Given the description of an element on the screen output the (x, y) to click on. 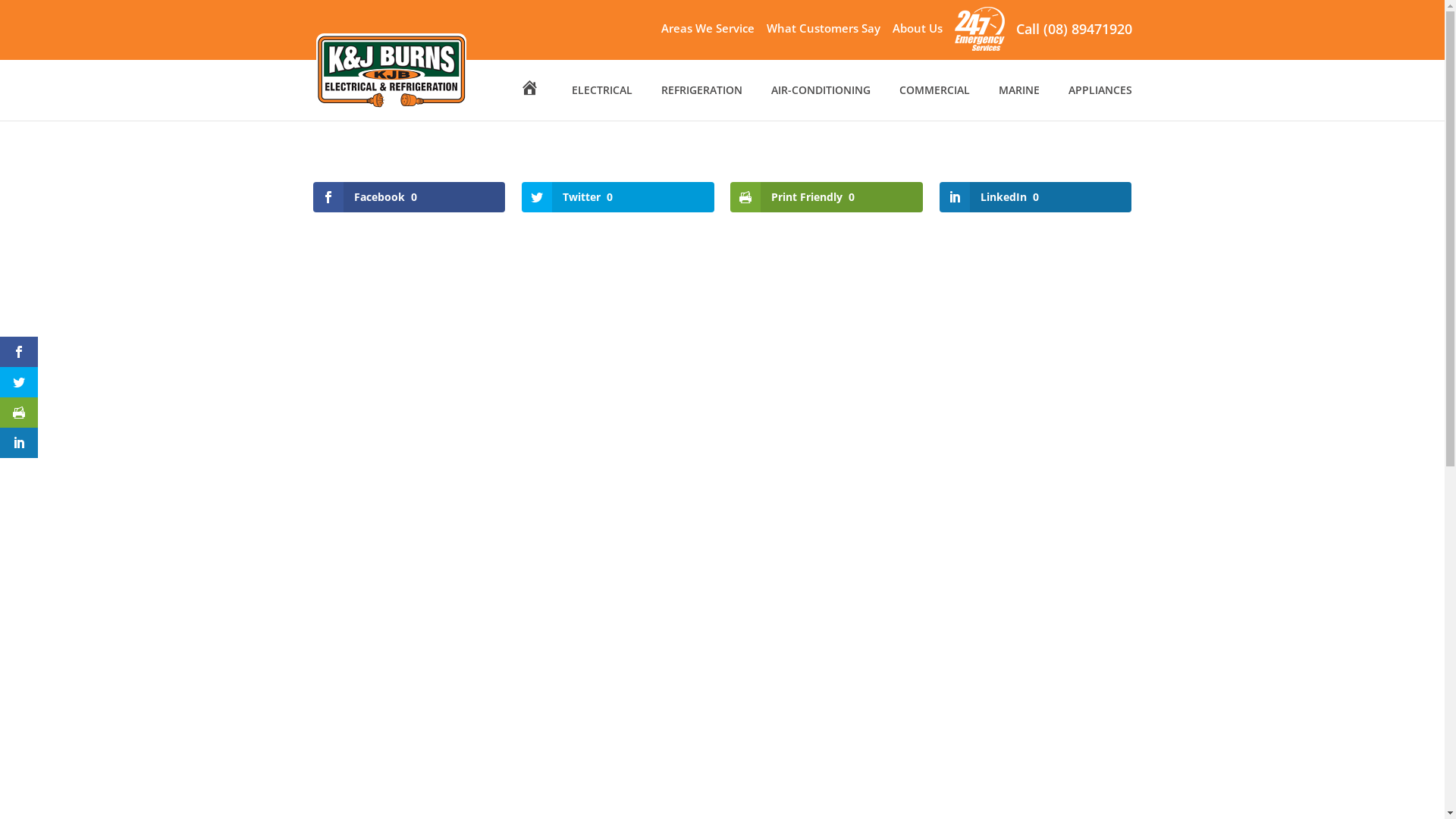
ELECTRICAL Element type: text (601, 102)
APPLIANCES Element type: text (1099, 102)
Twitter 0 Element type: text (617, 197)
AIR-CONDITIONING Element type: text (819, 102)
What Customers Say Element type: text (822, 31)
REFRIGERATION Element type: text (701, 102)
Areas We Service Element type: text (707, 31)
Facebook 0 Element type: text (408, 197)
COMMERCIAL Element type: text (934, 102)
About Us Element type: text (916, 31)
Print Friendly 0 Element type: text (826, 197)
MARINE Element type: text (1017, 102)
LinkedIn 0 Element type: text (1035, 197)
Call (08) 89471920 Element type: text (1074, 33)
